Given the description of an element on the screen output the (x, y) to click on. 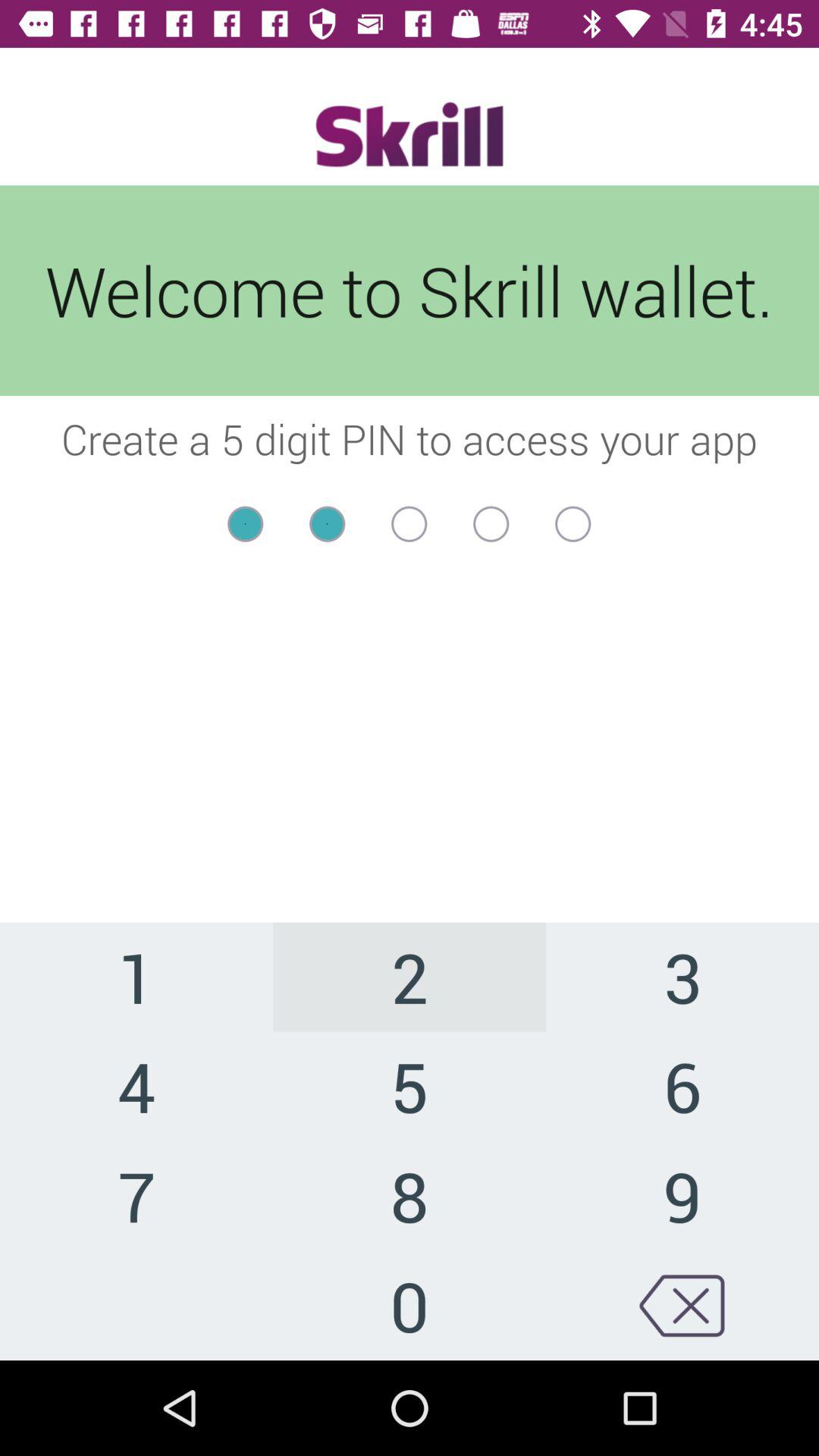
delete the numbers (682, 1305)
